Given the description of an element on the screen output the (x, y) to click on. 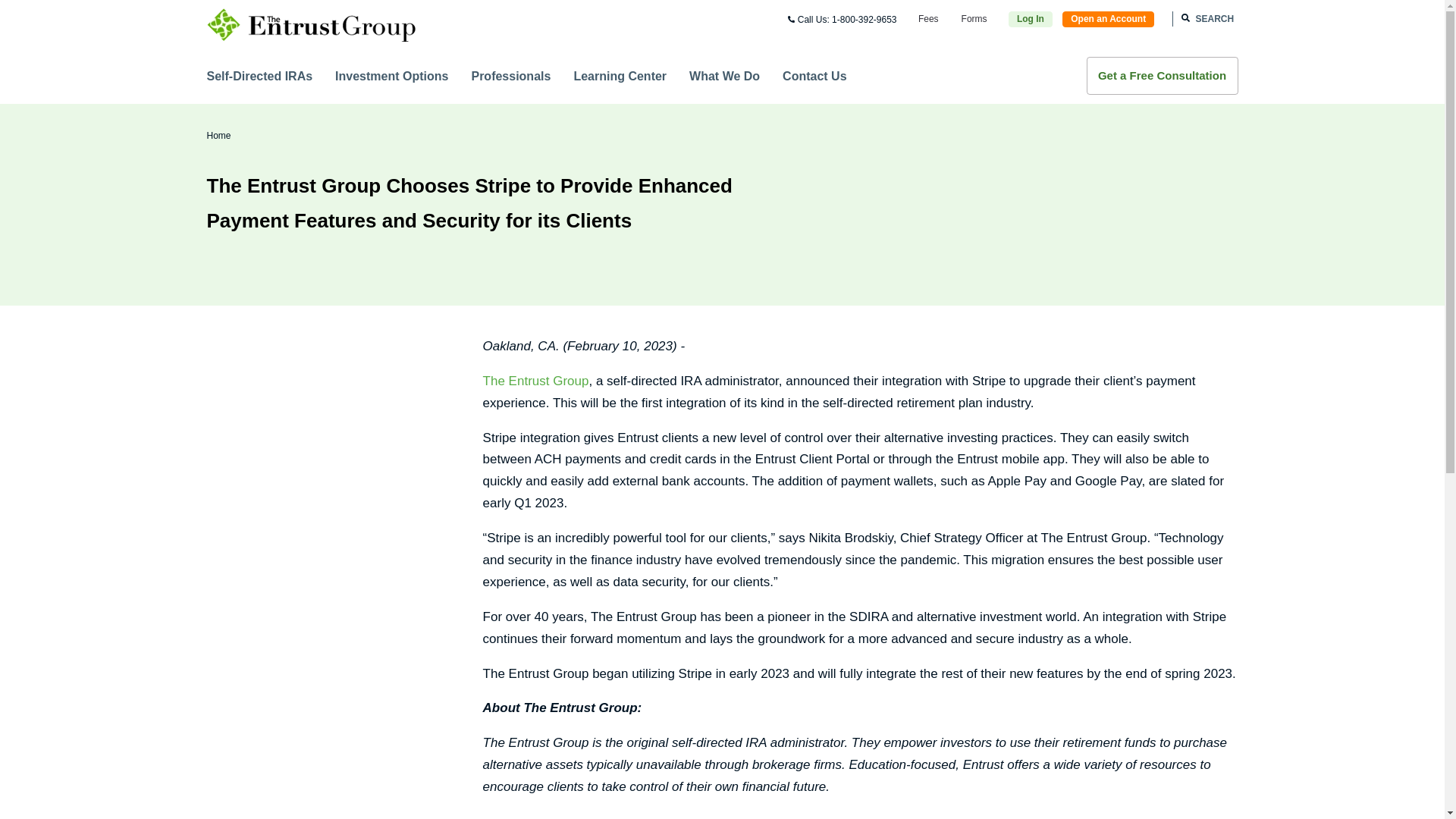
the entrust group logo (310, 24)
